Given the description of an element on the screen output the (x, y) to click on. 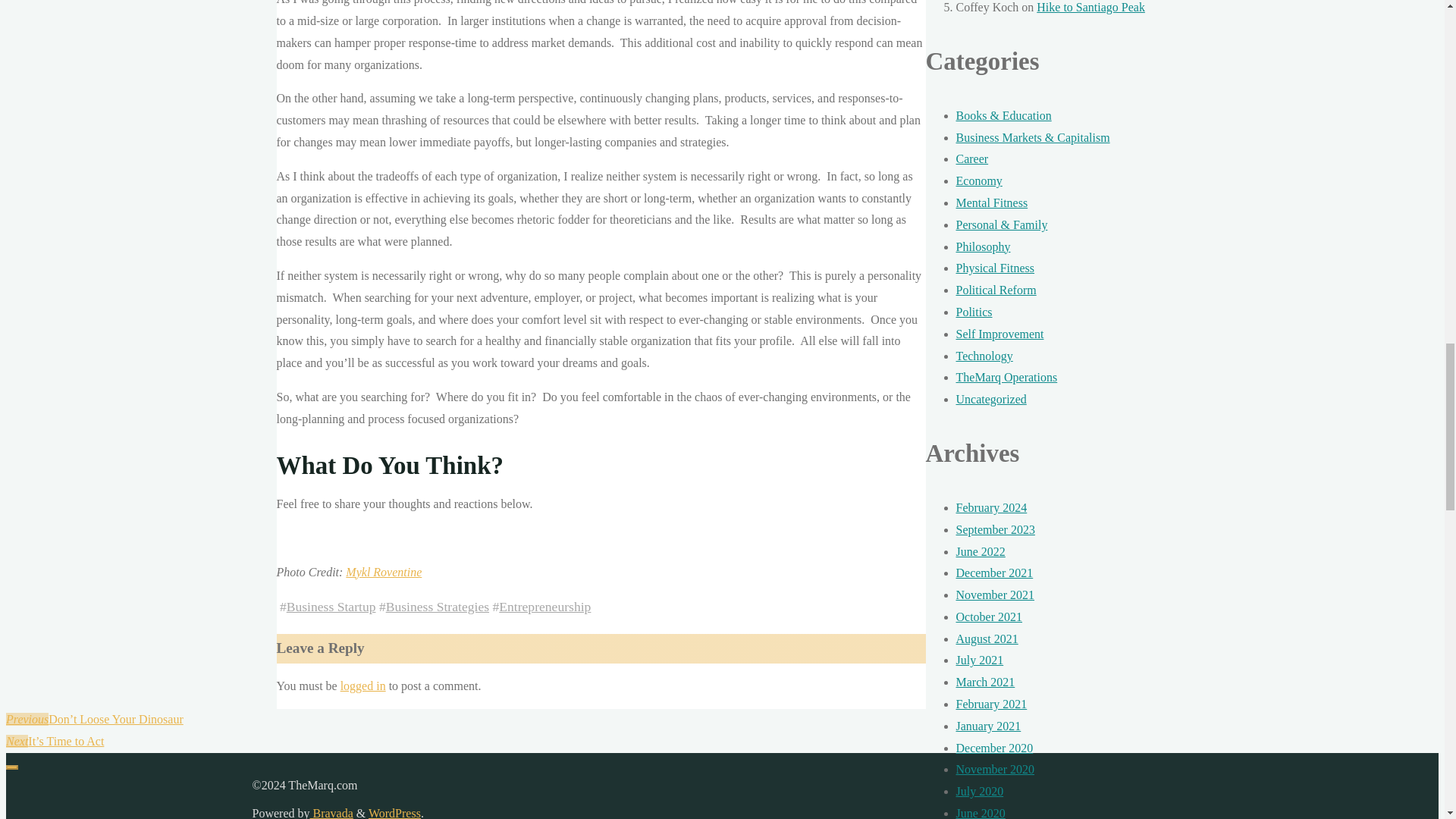
Mykl Roventine (384, 571)
Business Startup (330, 606)
Entrepreneurship (545, 606)
Career (971, 158)
Mental Fitness (991, 202)
Economy (978, 180)
logged in (362, 685)
Business Strategies (437, 606)
Hike to Santiago Peak (1090, 6)
Bravada WordPress Theme by Cryout Creations (330, 812)
Semantic Personal Publishing Platform (394, 812)
